Given the description of an element on the screen output the (x, y) to click on. 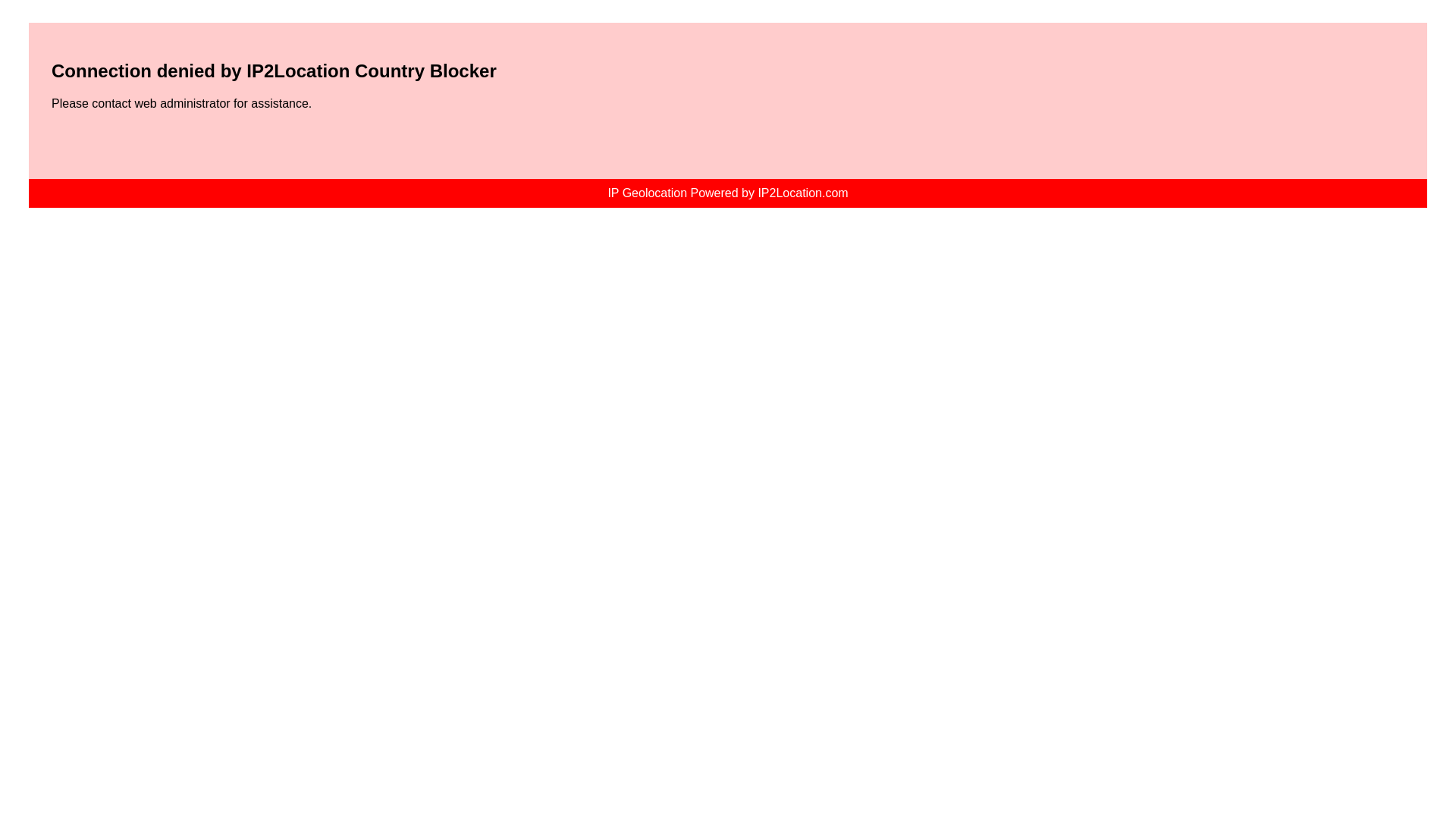
IP Geolocation Powered by IP2Location.com (727, 192)
